Given the description of an element on the screen output the (x, y) to click on. 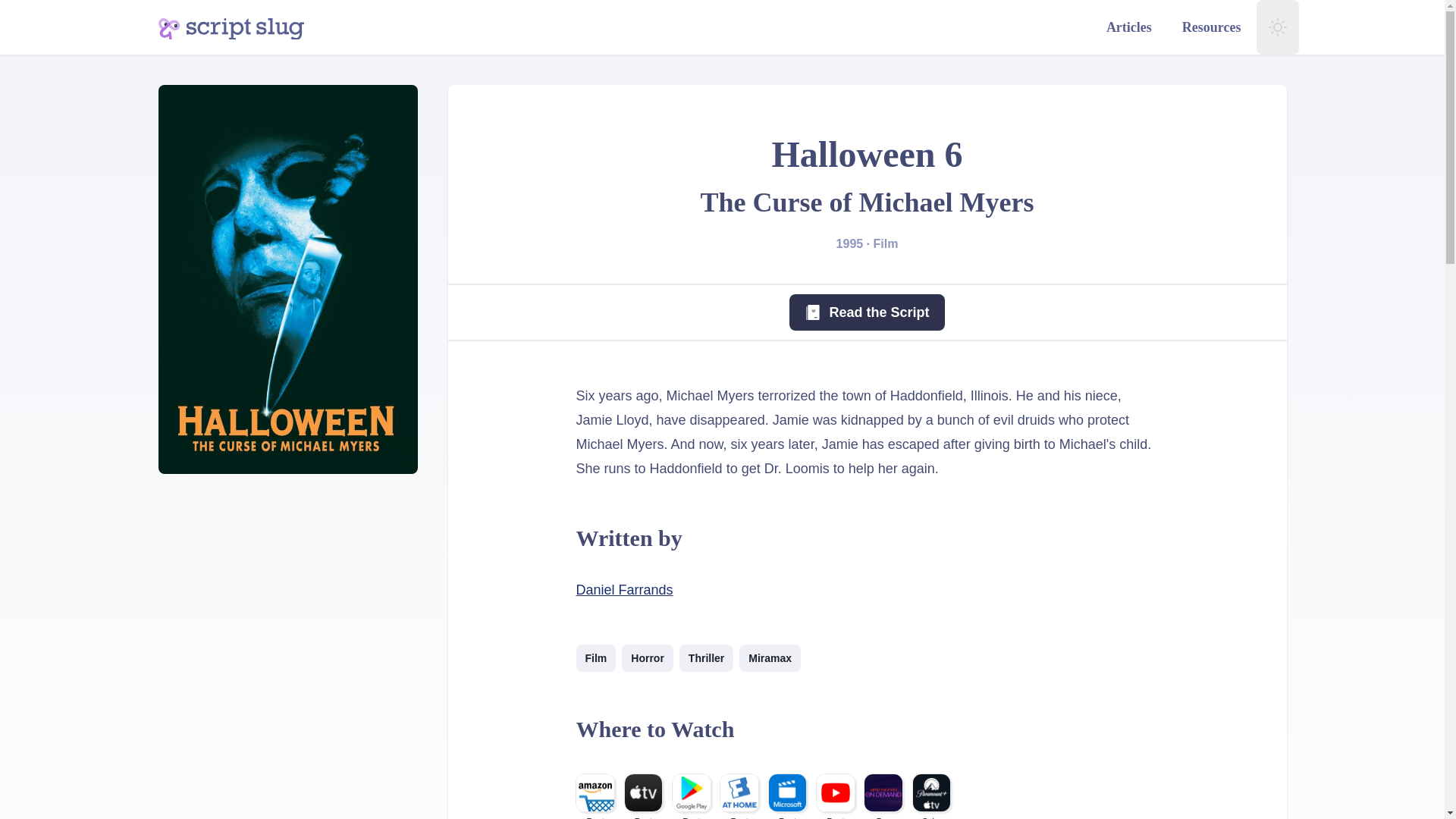
Resources (1211, 27)
Horror (646, 657)
Miramax (769, 657)
Film (595, 657)
Read the Script (866, 312)
Articles (1128, 27)
Daniel Farrands (624, 589)
Browse Thriller Scripts (706, 657)
Browse Miramax Scripts (769, 657)
Browse Horror Scripts (646, 657)
Browse Daniel Farrands Scripts (624, 589)
Thriller (706, 657)
Browse Film Scripts (595, 657)
